Given the description of an element on the screen output the (x, y) to click on. 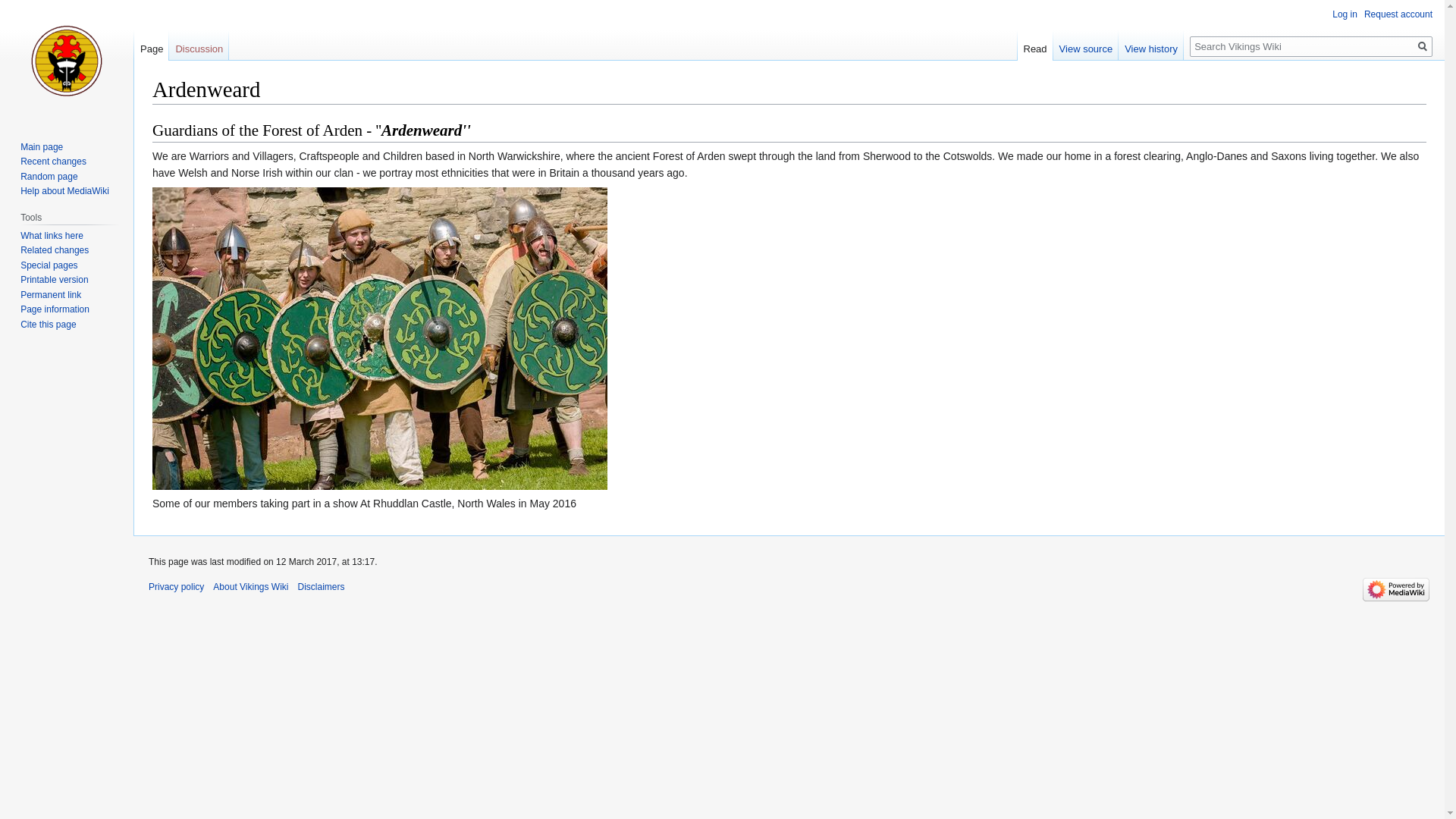
Permanent link (50, 294)
View history (1150, 45)
Read (1034, 45)
Page (150, 45)
Disclaimers (321, 586)
Main page (41, 146)
Request account (1398, 14)
Go (1422, 46)
Discussion (198, 45)
Privacy policy (175, 586)
